Given the description of an element on the screen output the (x, y) to click on. 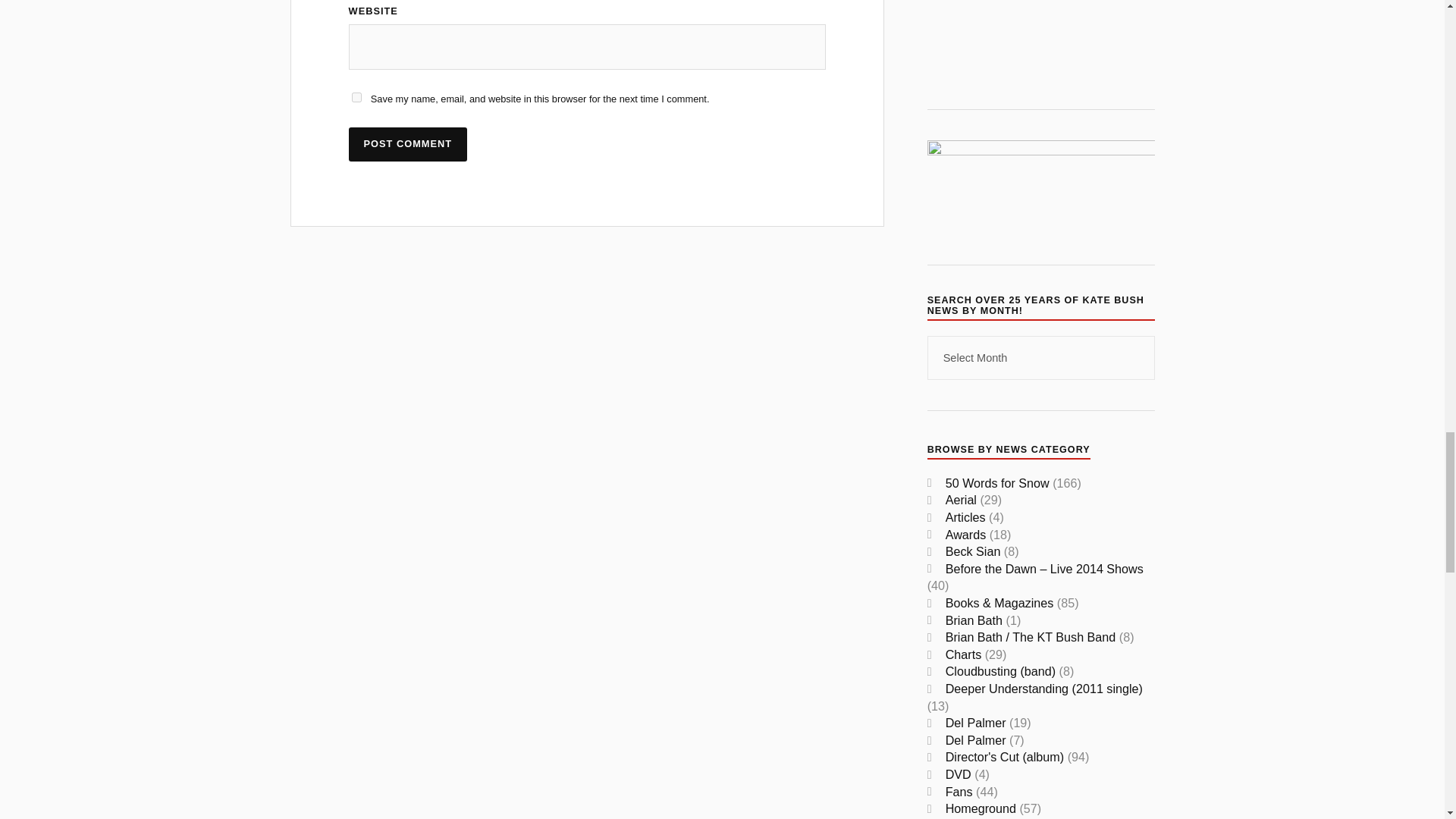
Post Comment (408, 144)
yes (356, 97)
